Given the description of an element on the screen output the (x, y) to click on. 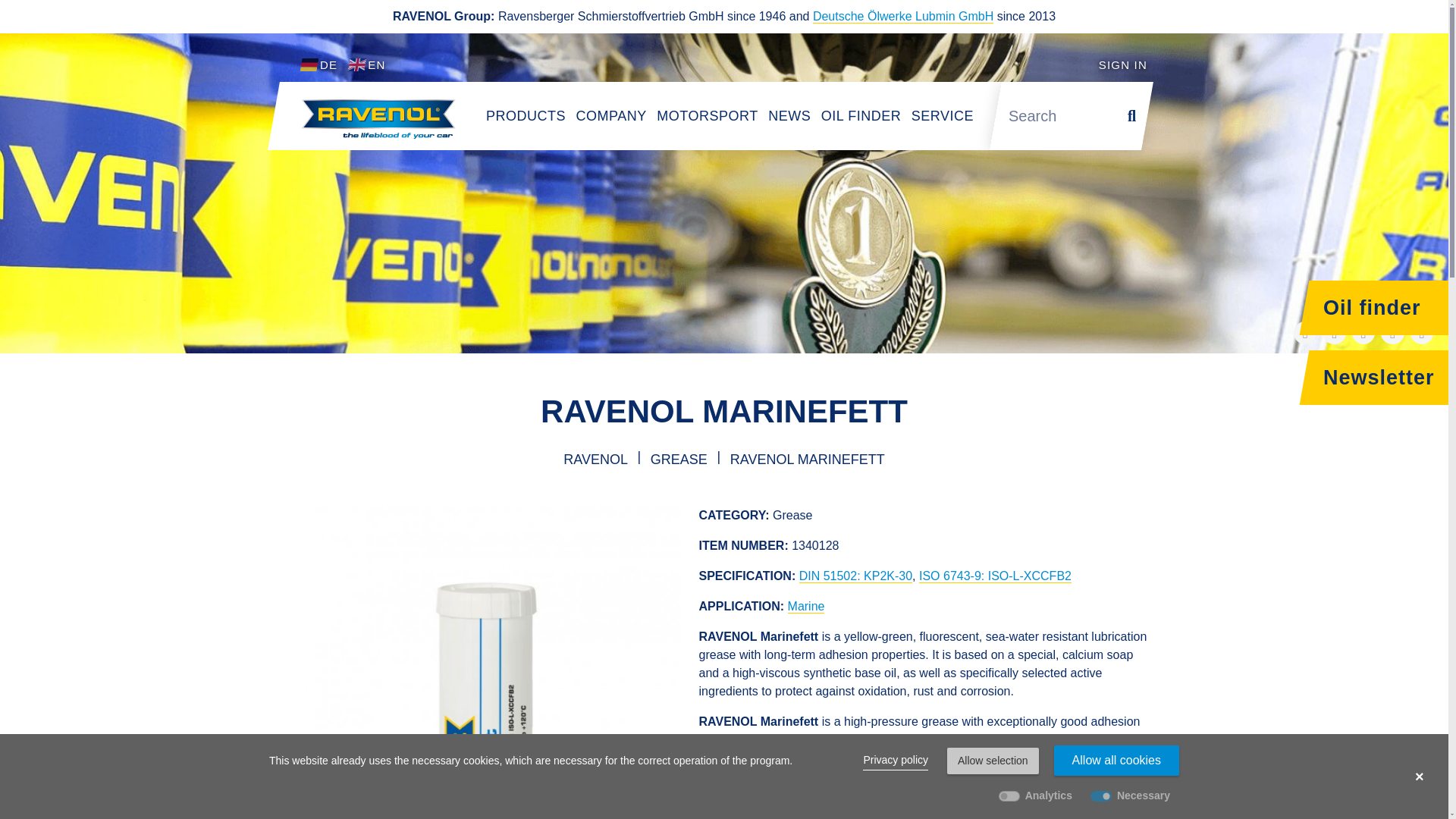
on (1009, 795)
on (1101, 795)
